Given the description of an element on the screen output the (x, y) to click on. 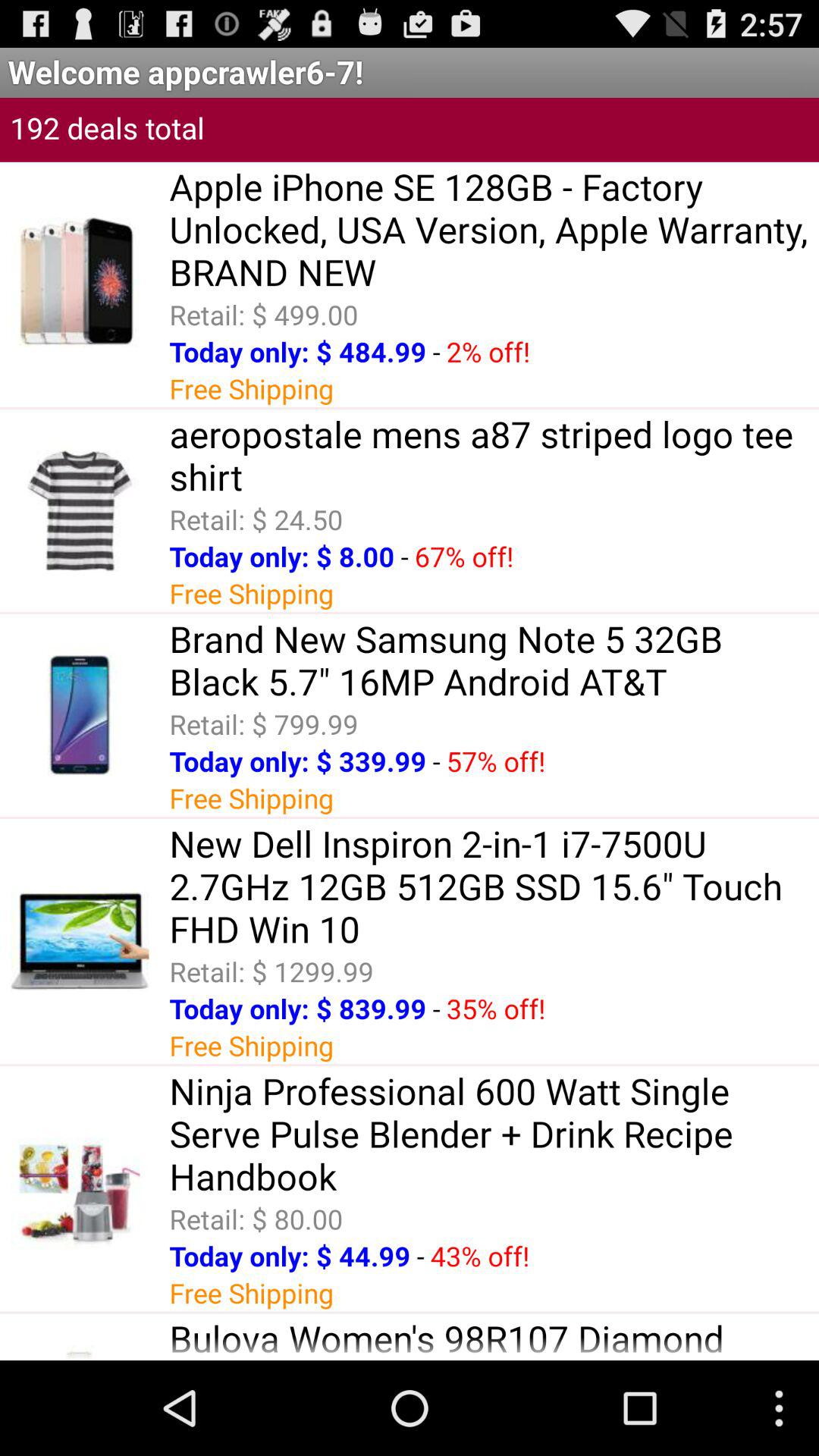
open the item above retail: $ 24.50 (494, 455)
